Given the description of an element on the screen output the (x, y) to click on. 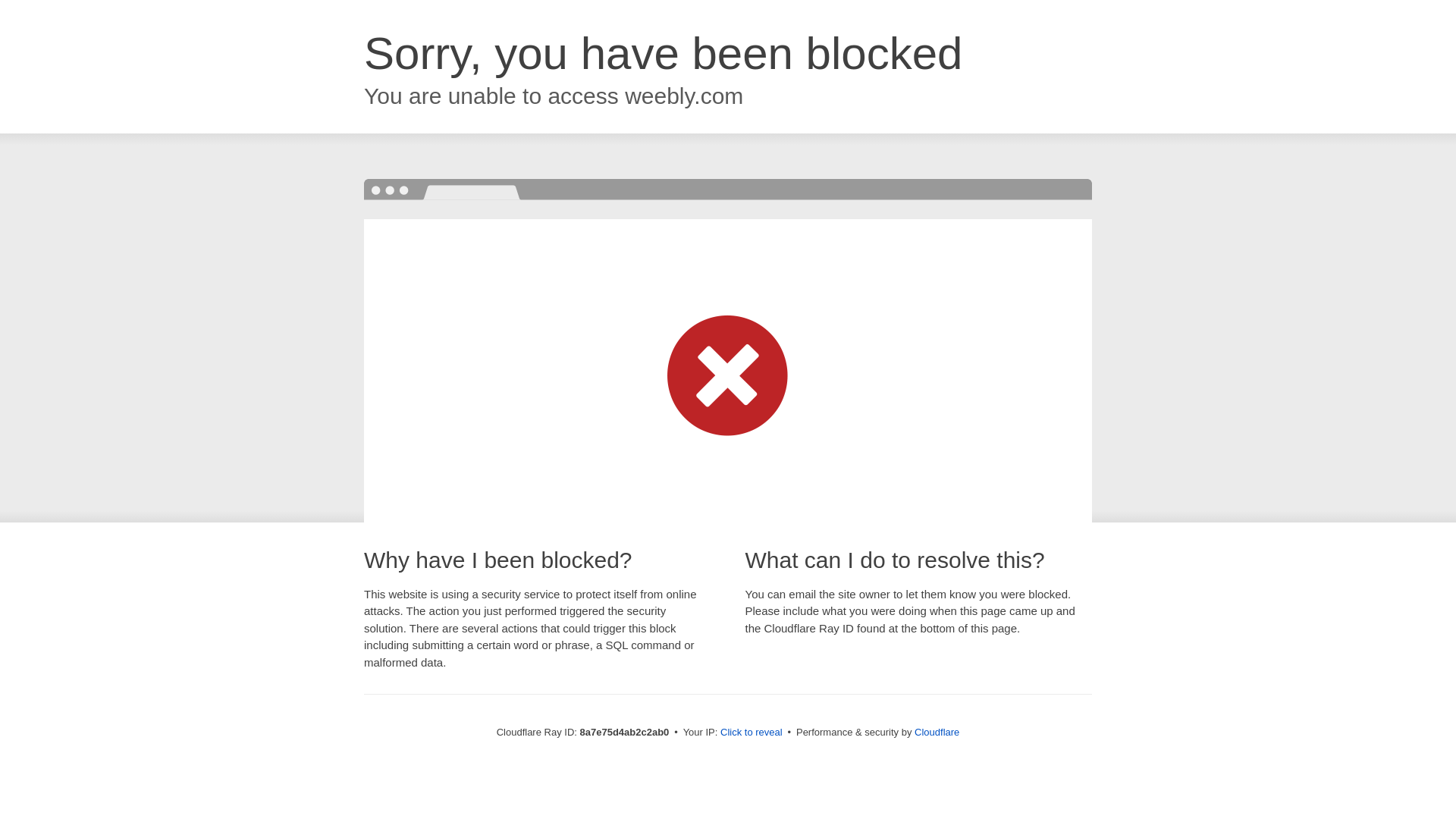
Click to reveal (751, 732)
Cloudflare (936, 731)
